Given the description of an element on the screen output the (x, y) to click on. 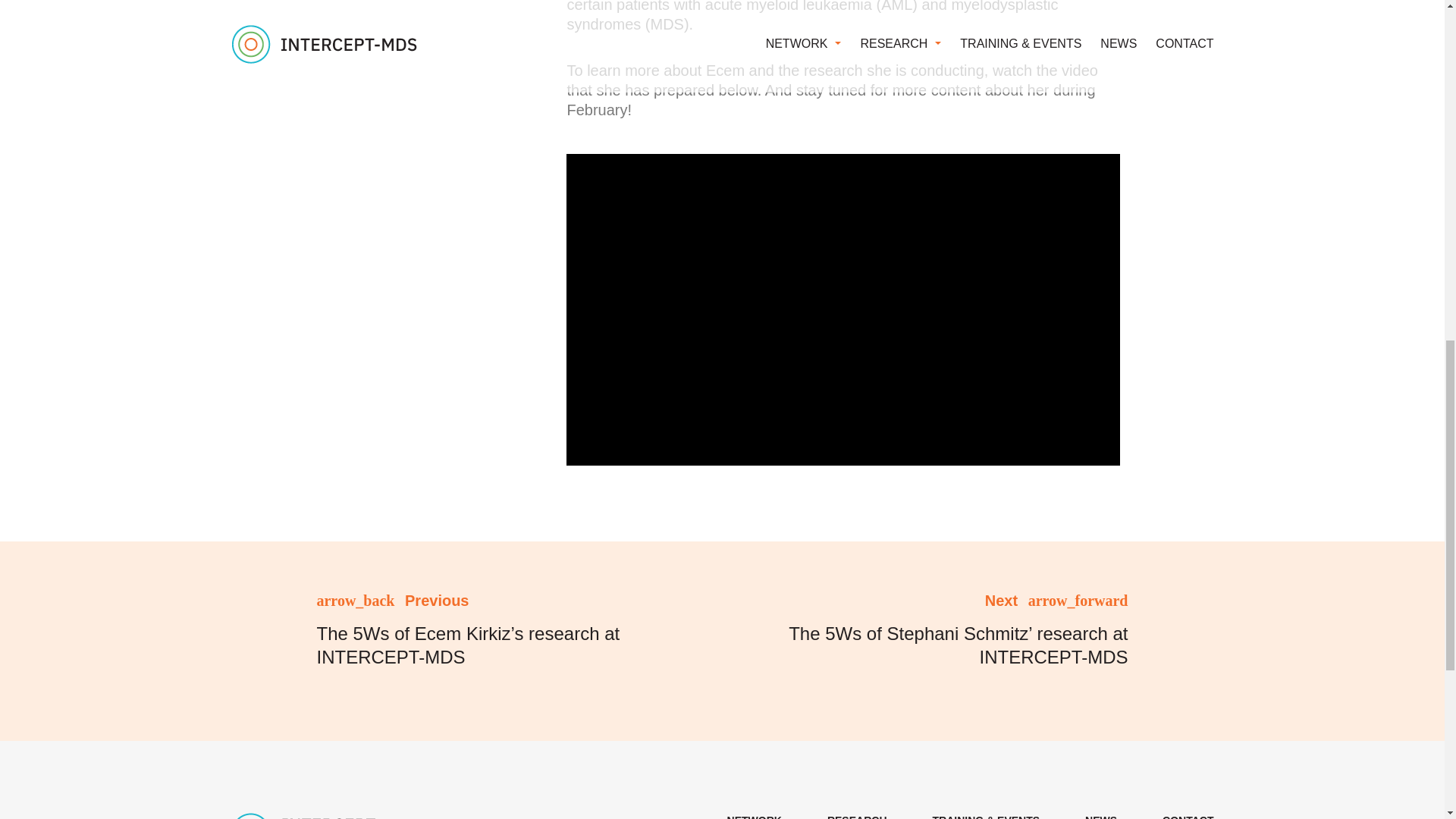
NETWORK (753, 816)
CONTACT (1186, 816)
RESEARCH (856, 816)
NEWS (1100, 816)
